Given the description of an element on the screen output the (x, y) to click on. 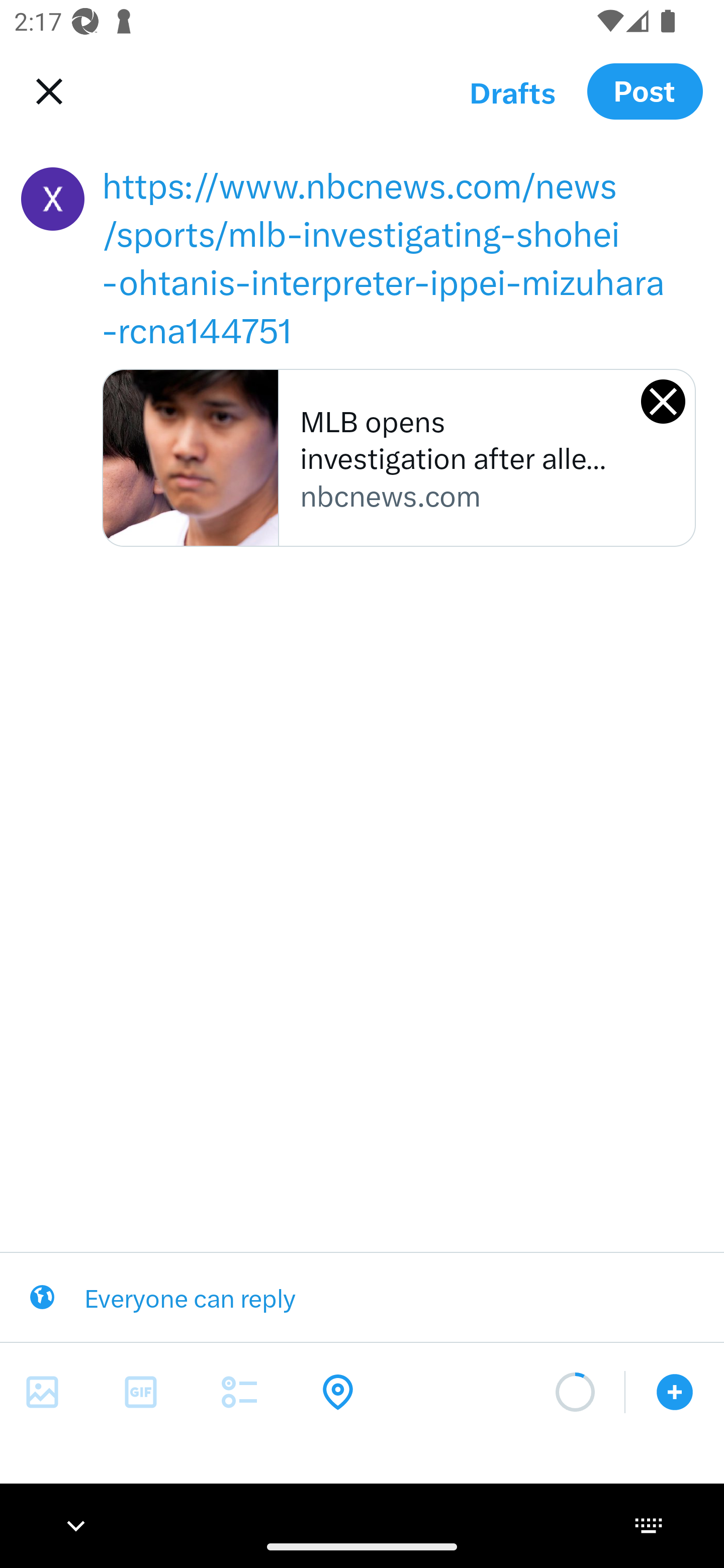
Navigate up (45, 91)
POST (645, 90)
Drafts Open Drafts (512, 91)
@testappium20, Switch accounts (52, 198)
Remove Preview (662, 401)
Photos (42, 1392)
GIF (140, 1392)
Poll (238, 1392)
Turn on Geo Tag (337, 1392)
Add a post (674, 1392)
